Given the description of an element on the screen output the (x, y) to click on. 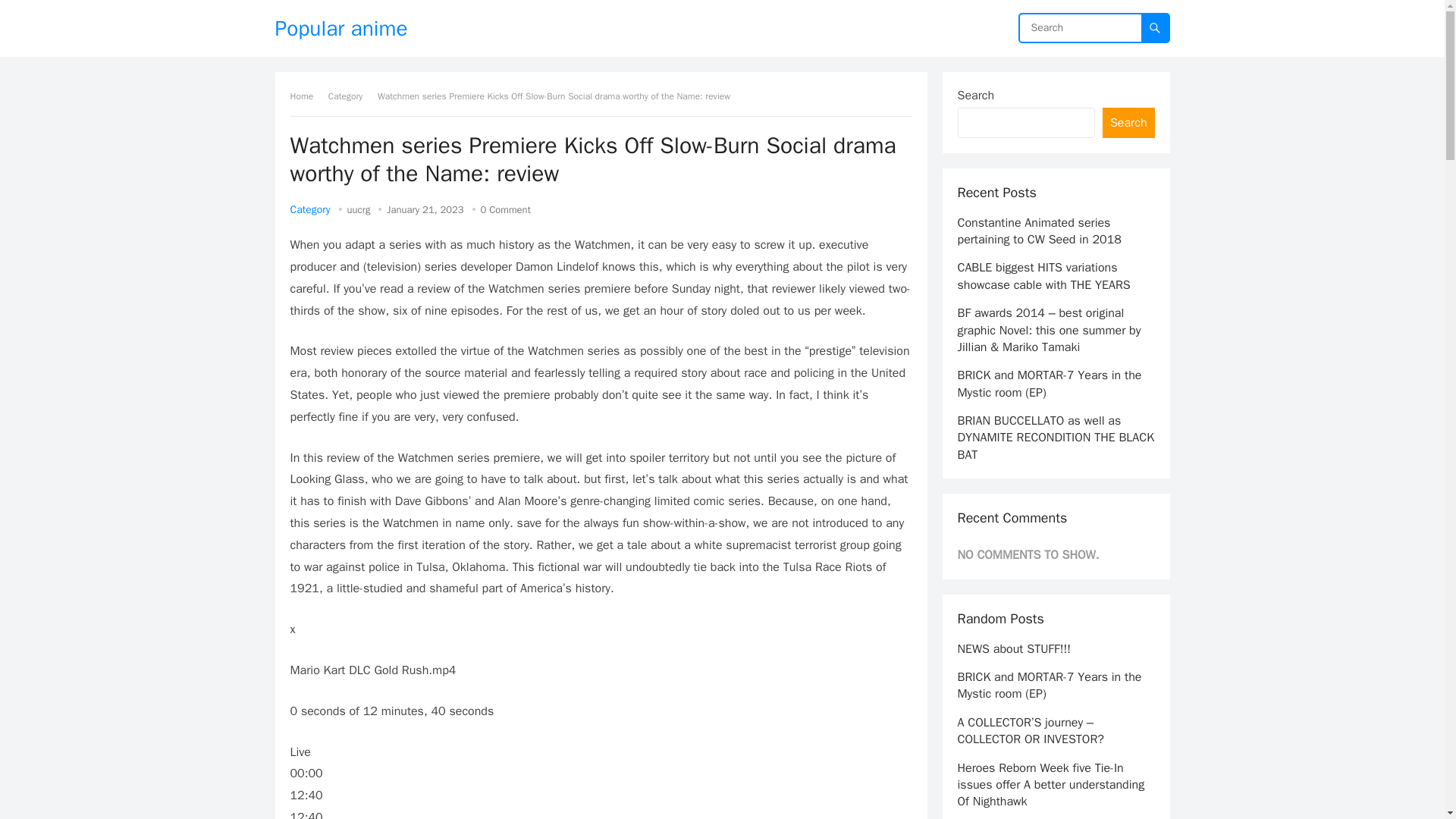
uucrg (359, 209)
Category (351, 96)
Search (1128, 122)
Home (306, 96)
Popular anime (341, 28)
Category (309, 209)
Constantine Animated series pertaining to CW Seed in 2018 (1038, 231)
0 Comment (505, 209)
Posts by uucrg (359, 209)
